Given the description of an element on the screen output the (x, y) to click on. 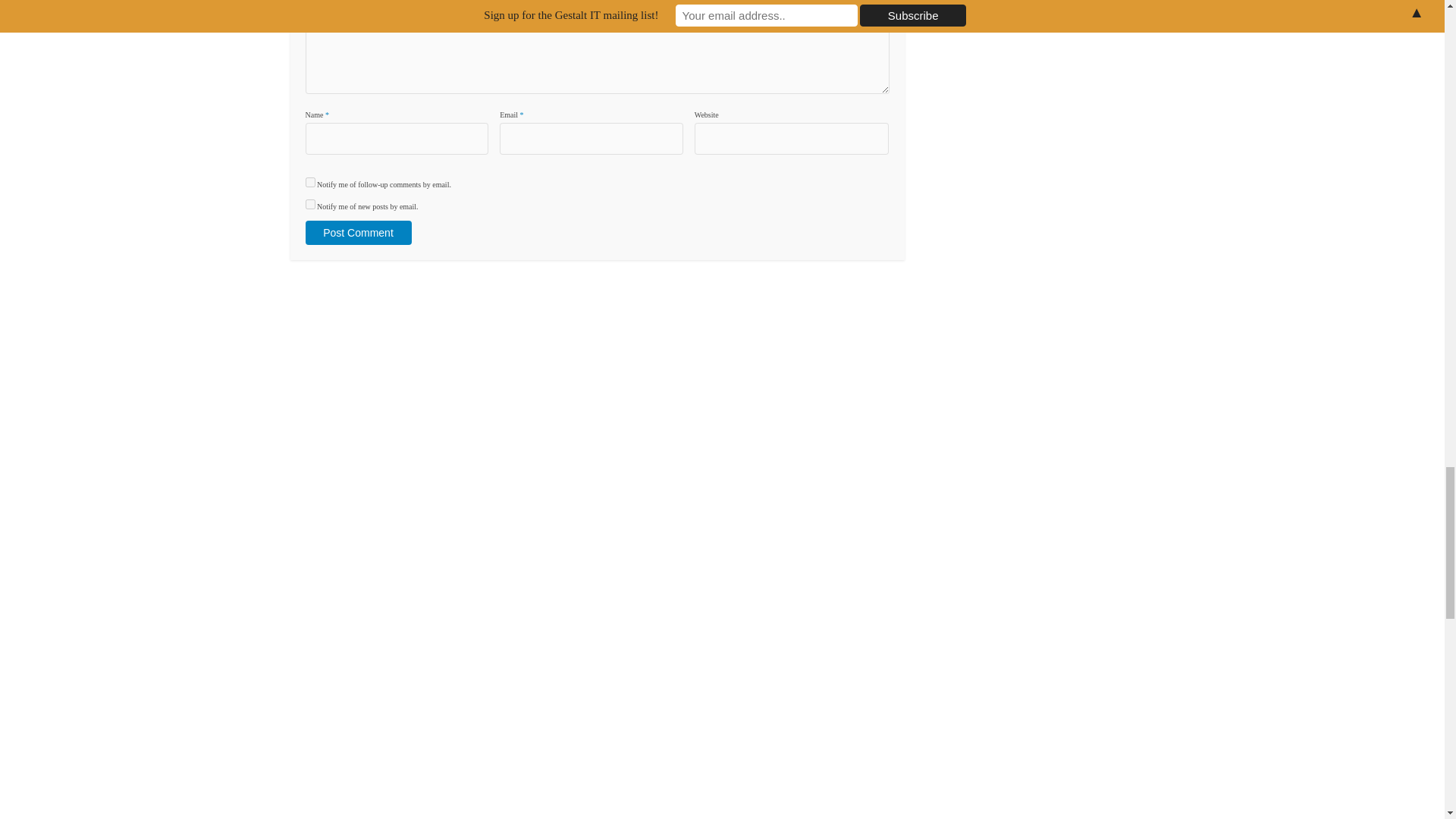
subscribe (309, 204)
Post Comment (357, 232)
subscribe (309, 182)
